Given the description of an element on the screen output the (x, y) to click on. 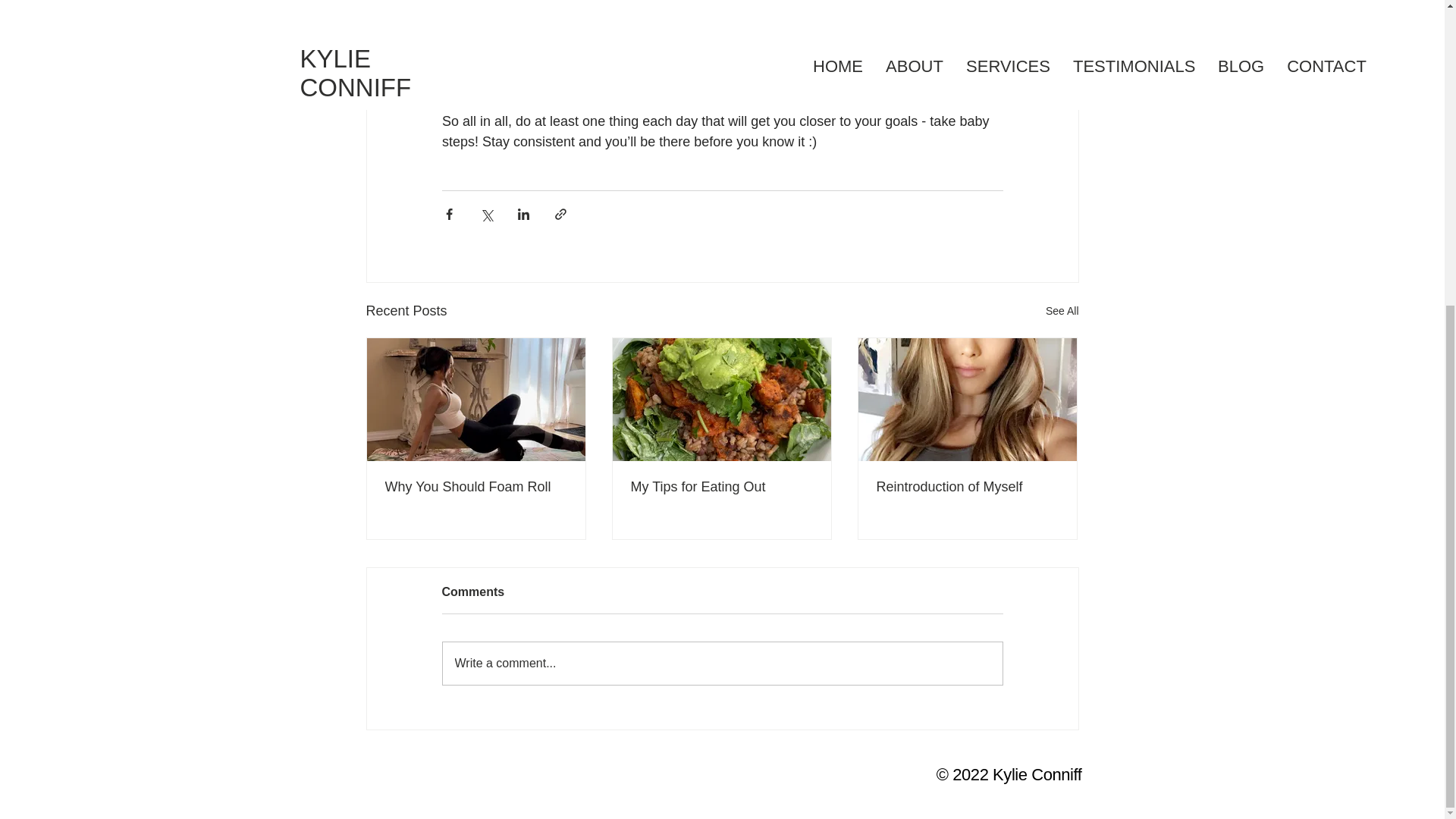
See All (1061, 311)
My Tips for Eating Out (721, 487)
Why You Should Foam Roll (476, 487)
Reintroduction of Myself (967, 487)
Write a comment... (722, 663)
